Given the description of an element on the screen output the (x, y) to click on. 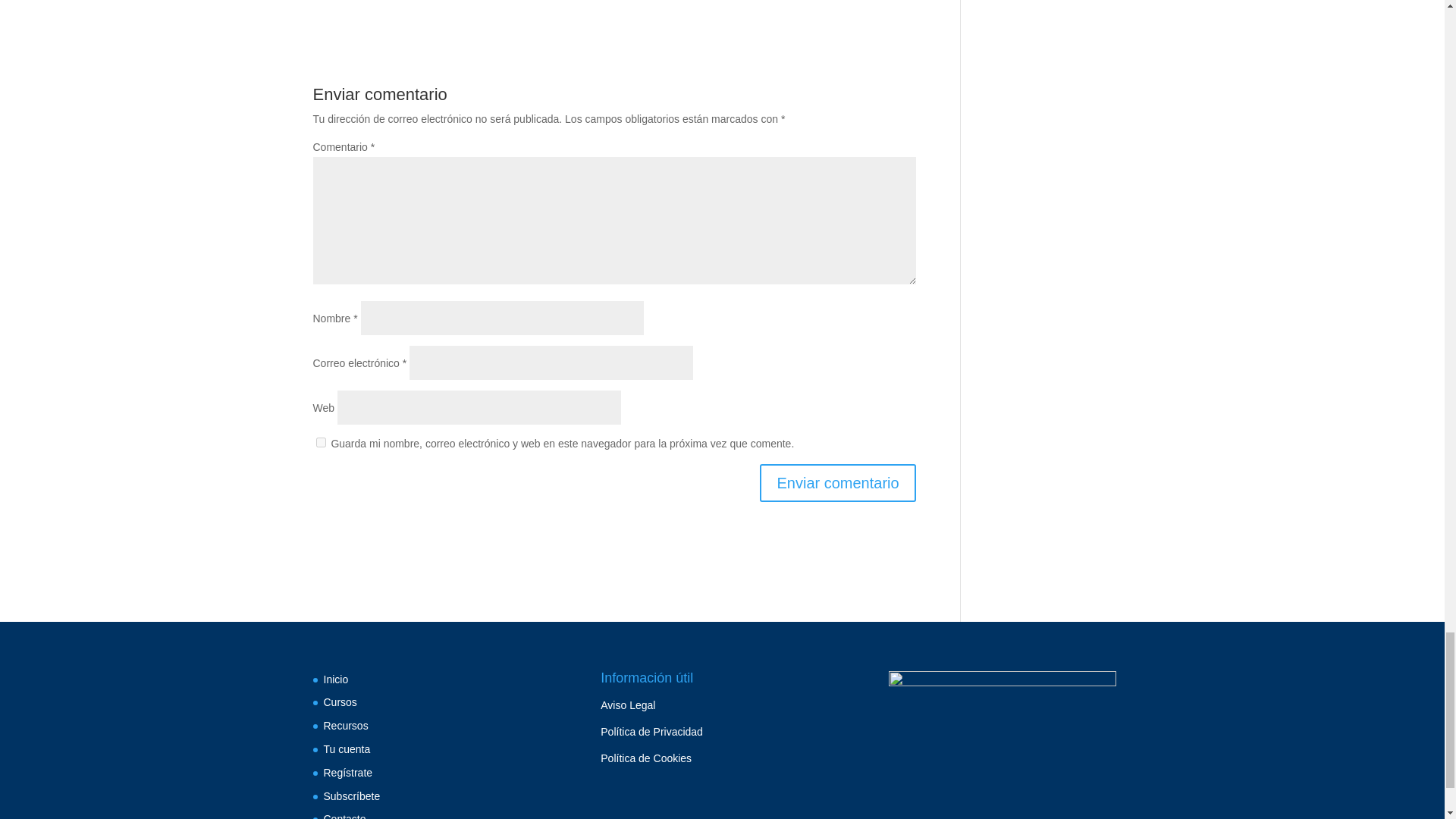
Enviar comentario (837, 483)
Enviar comentario (837, 483)
yes (319, 442)
